Given the description of an element on the screen output the (x, y) to click on. 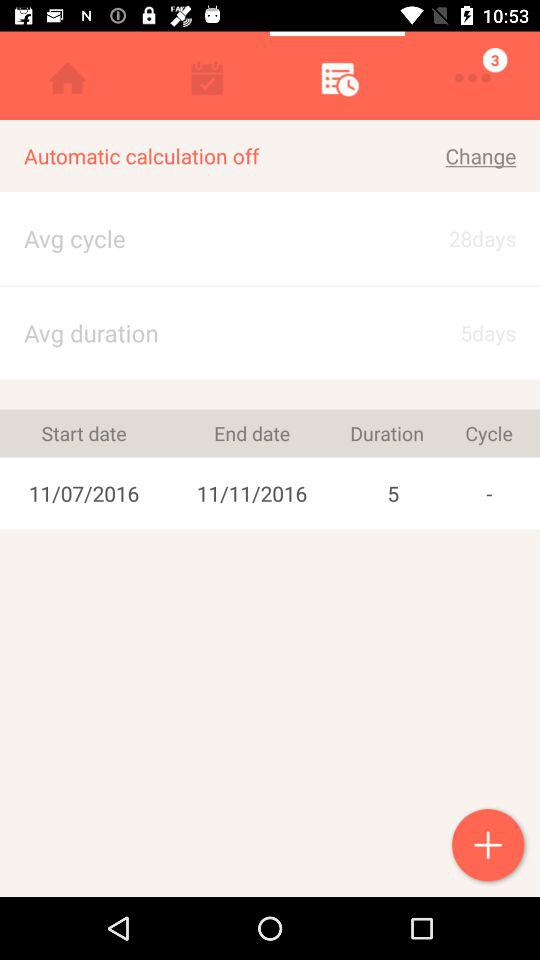
tap - icon (488, 493)
